Given the description of an element on the screen output the (x, y) to click on. 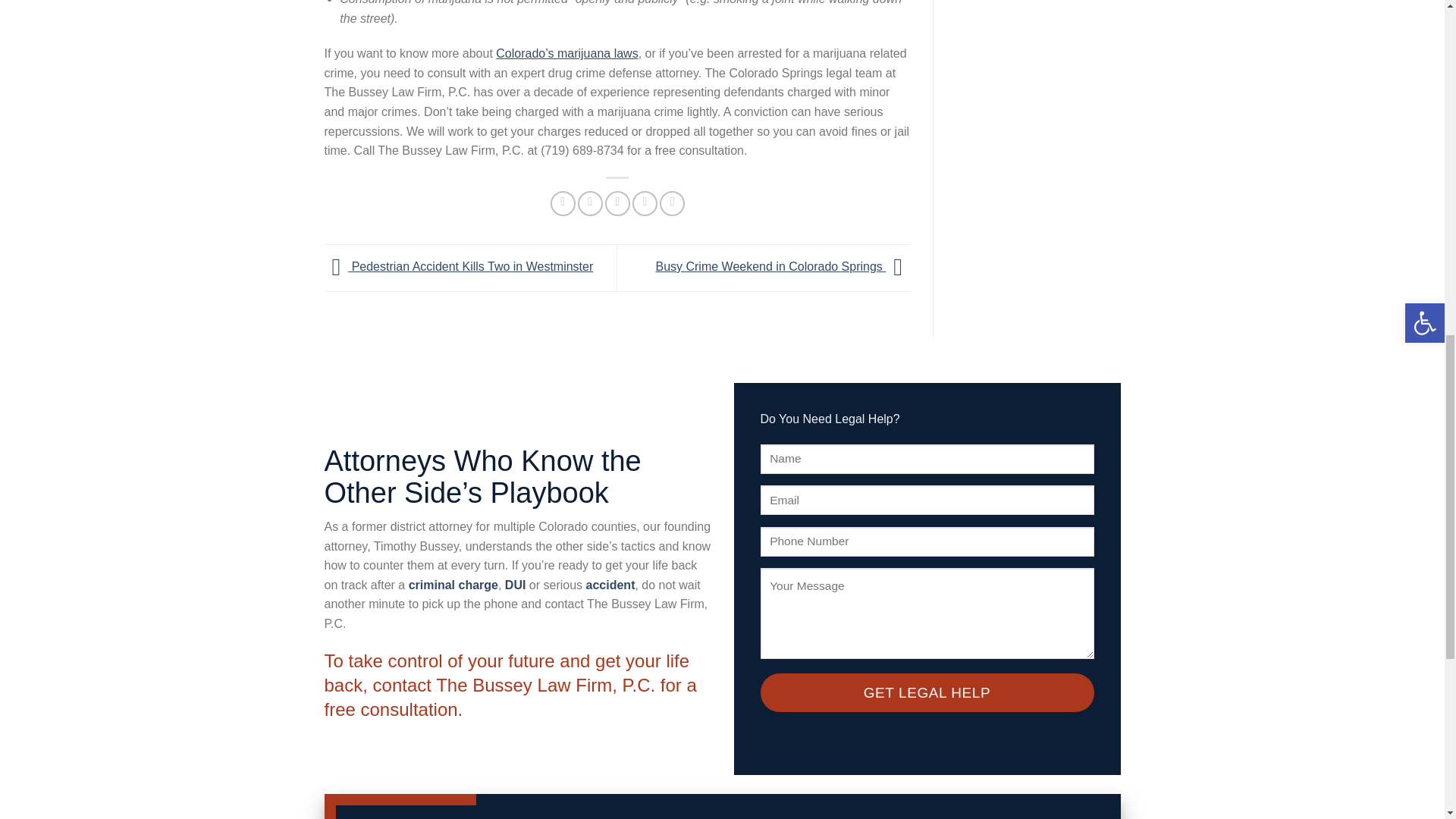
Email to a Friend (617, 203)
Get Legal Help (926, 692)
Pin on Pinterest (644, 203)
Share on Twitter (590, 203)
Share on LinkedIn (671, 203)
Share on Facebook (562, 203)
